Given the description of an element on the screen output the (x, y) to click on. 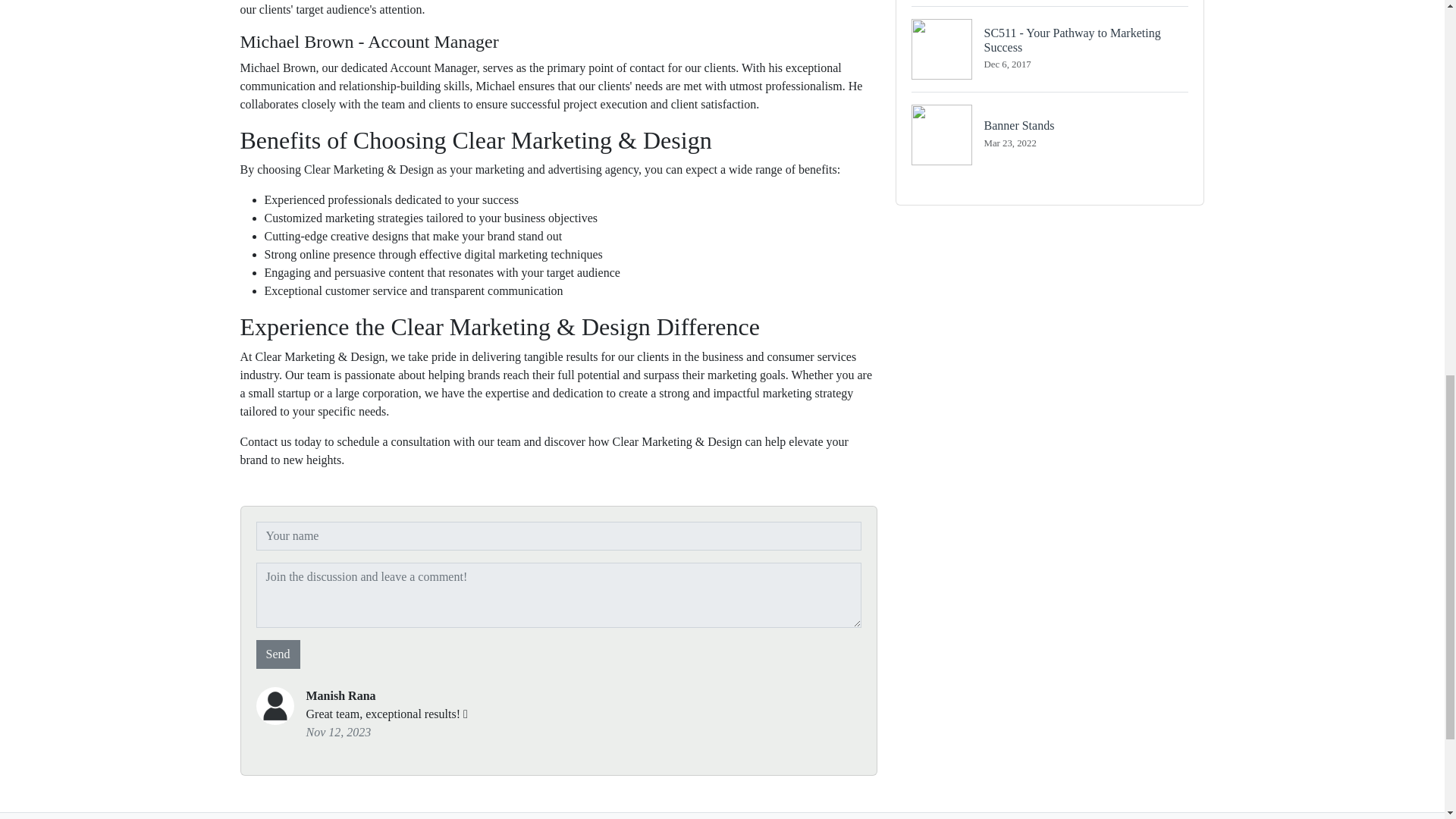
Send (277, 654)
Send (1050, 48)
